Given the description of an element on the screen output the (x, y) to click on. 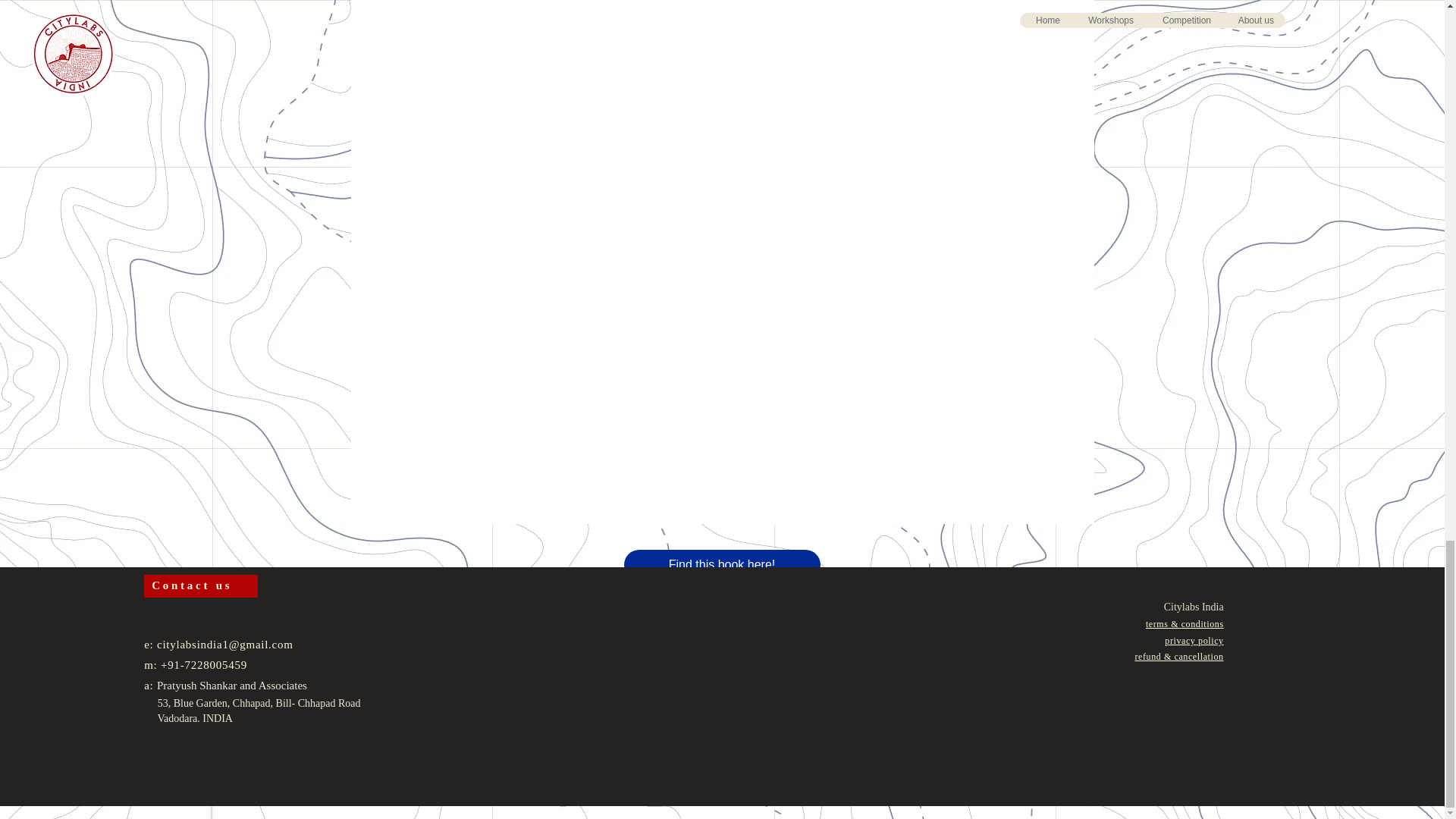
Find this book here! (721, 564)
privacy policy (1193, 640)
